Given the description of an element on the screen output the (x, y) to click on. 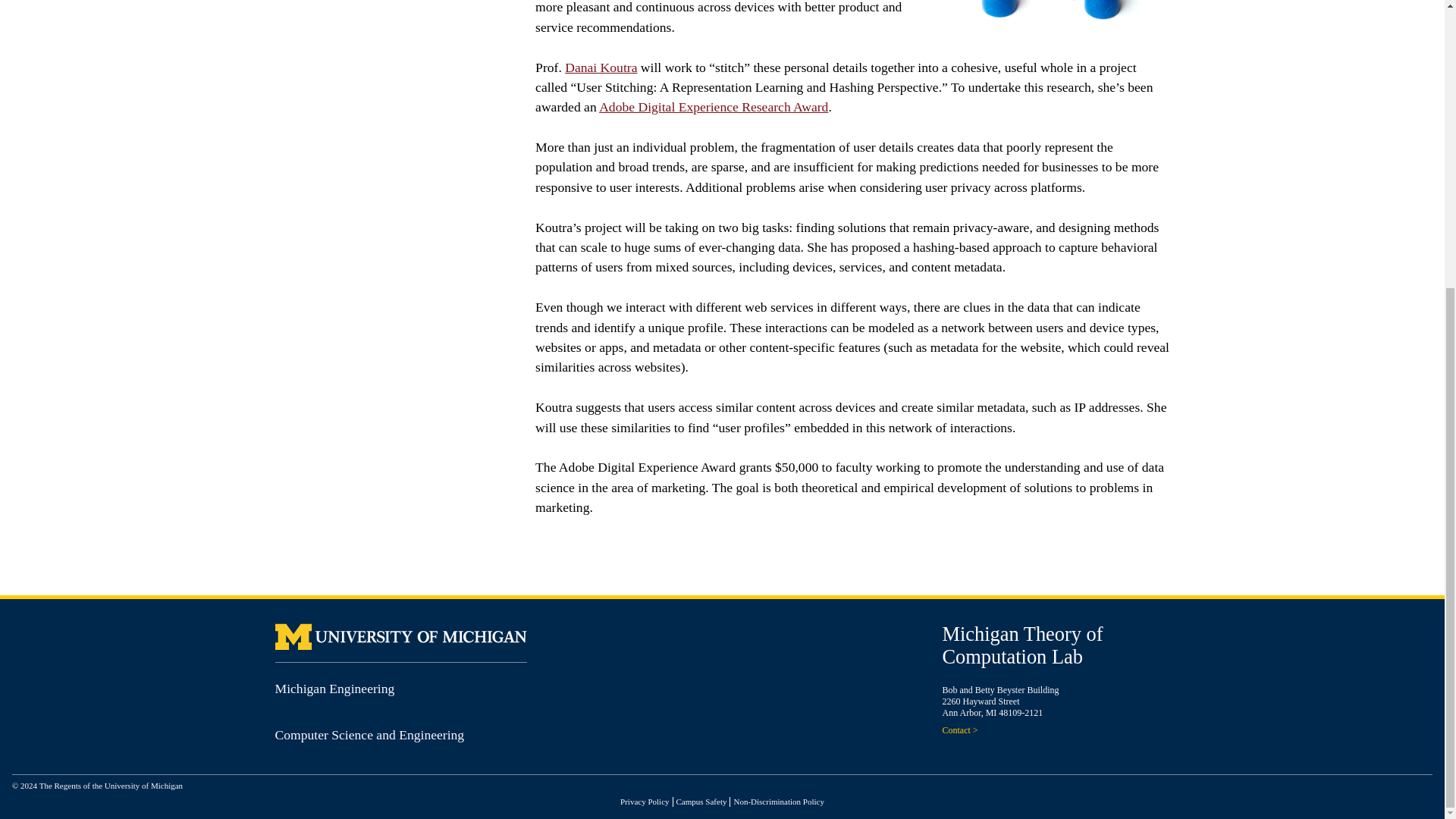
Computer Science and Engineering (369, 734)
Danai Koutra (600, 67)
Michigan Theory of Computation Lab (1022, 645)
Campus Safety (701, 800)
Non-Discrimination Policy (778, 800)
Privacy Policy (644, 800)
The Regents of the University of Michigan (111, 785)
Michigan Engineering (334, 688)
Adobe Digital Experience Research Award (713, 106)
